Given the description of an element on the screen output the (x, y) to click on. 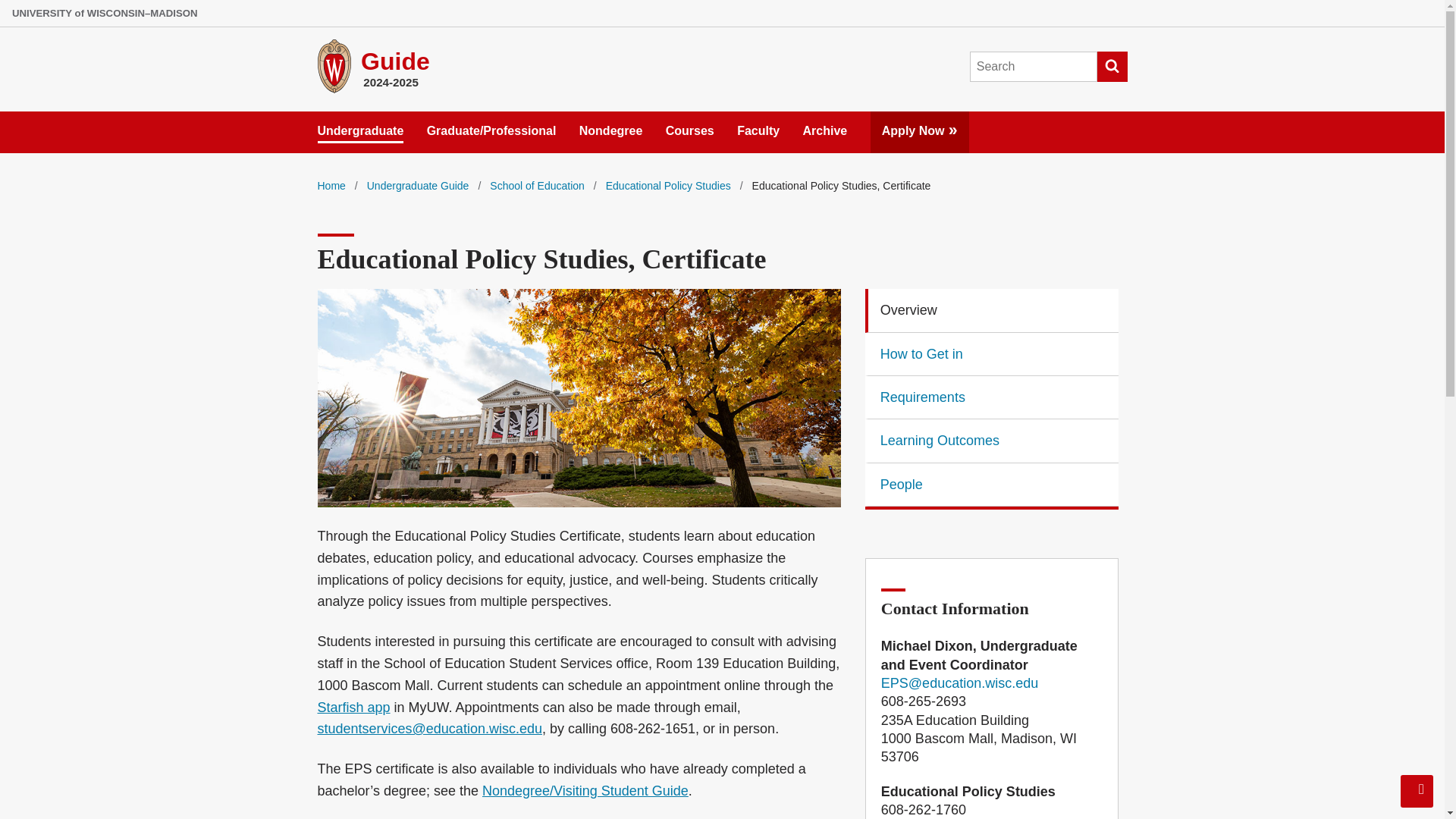
Nondegree (611, 127)
Requirements (991, 397)
Guide (395, 61)
Educational Policy Studies (667, 185)
More (952, 130)
Home (331, 185)
Apply Now More (920, 127)
How to Get in (991, 353)
Undergraduate Guide (417, 185)
School of Education (537, 185)
